Given the description of an element on the screen output the (x, y) to click on. 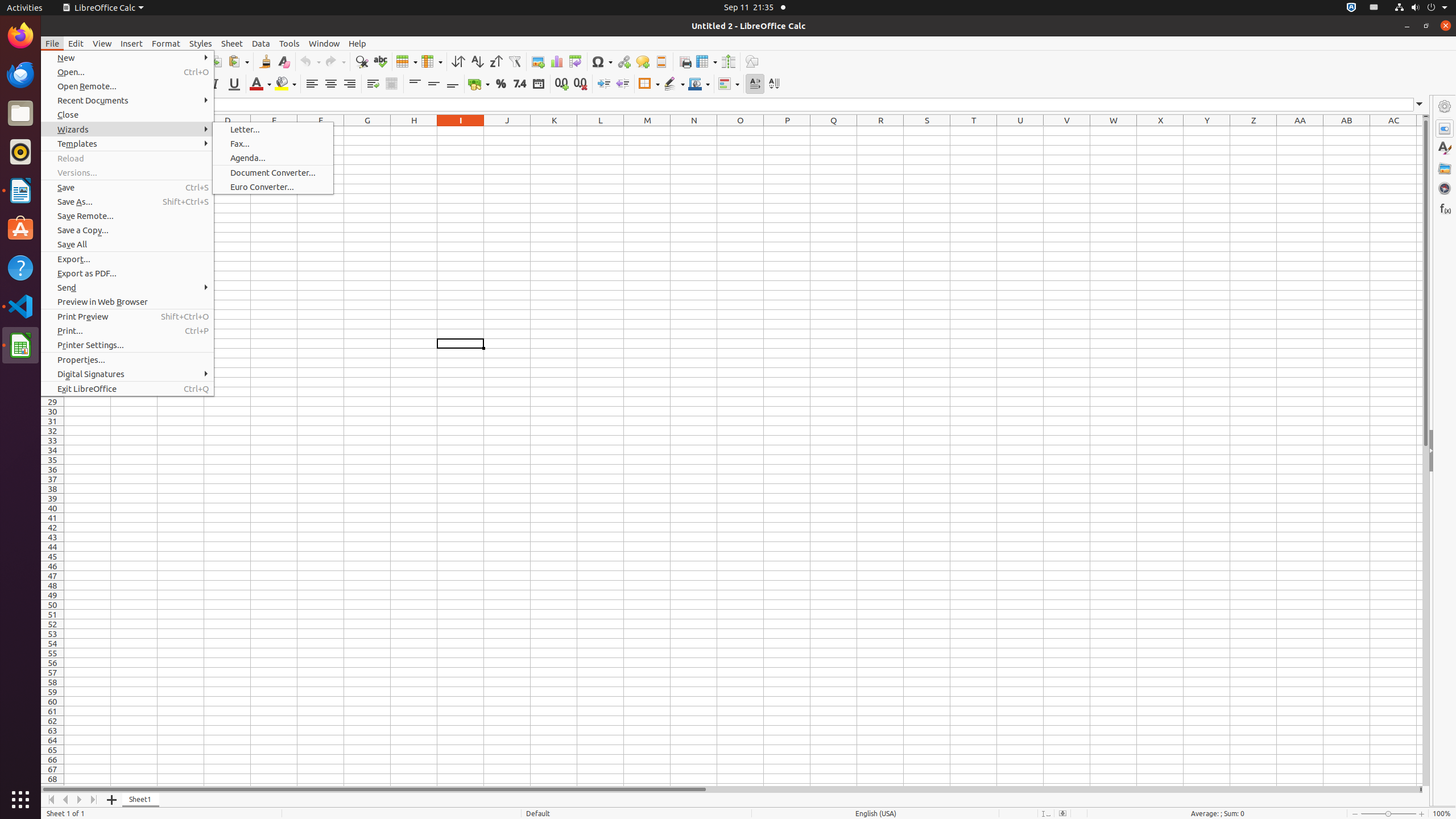
R1 Element type: table-cell (880, 130)
New Element type: menu (126, 57)
